Given the description of an element on the screen output the (x, y) to click on. 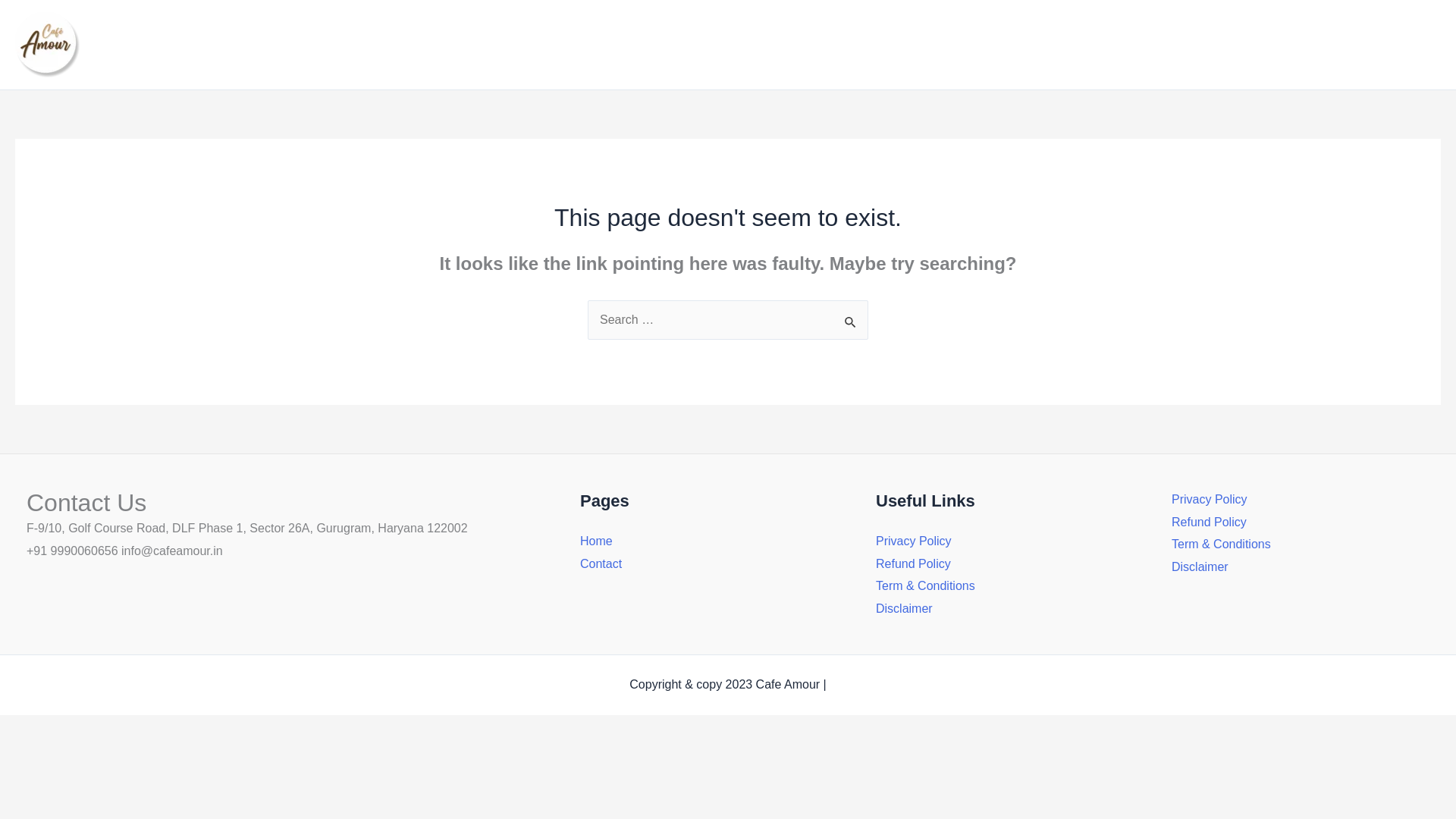
Contact (1407, 44)
Contact (600, 563)
Refund Policy (913, 563)
Privacy Policy (1209, 499)
Home (595, 540)
Disclaimer (904, 608)
Privacy Policy (914, 540)
Disclaimer (1200, 566)
Refund Policy (1209, 521)
Home (1345, 44)
